Given the description of an element on the screen output the (x, y) to click on. 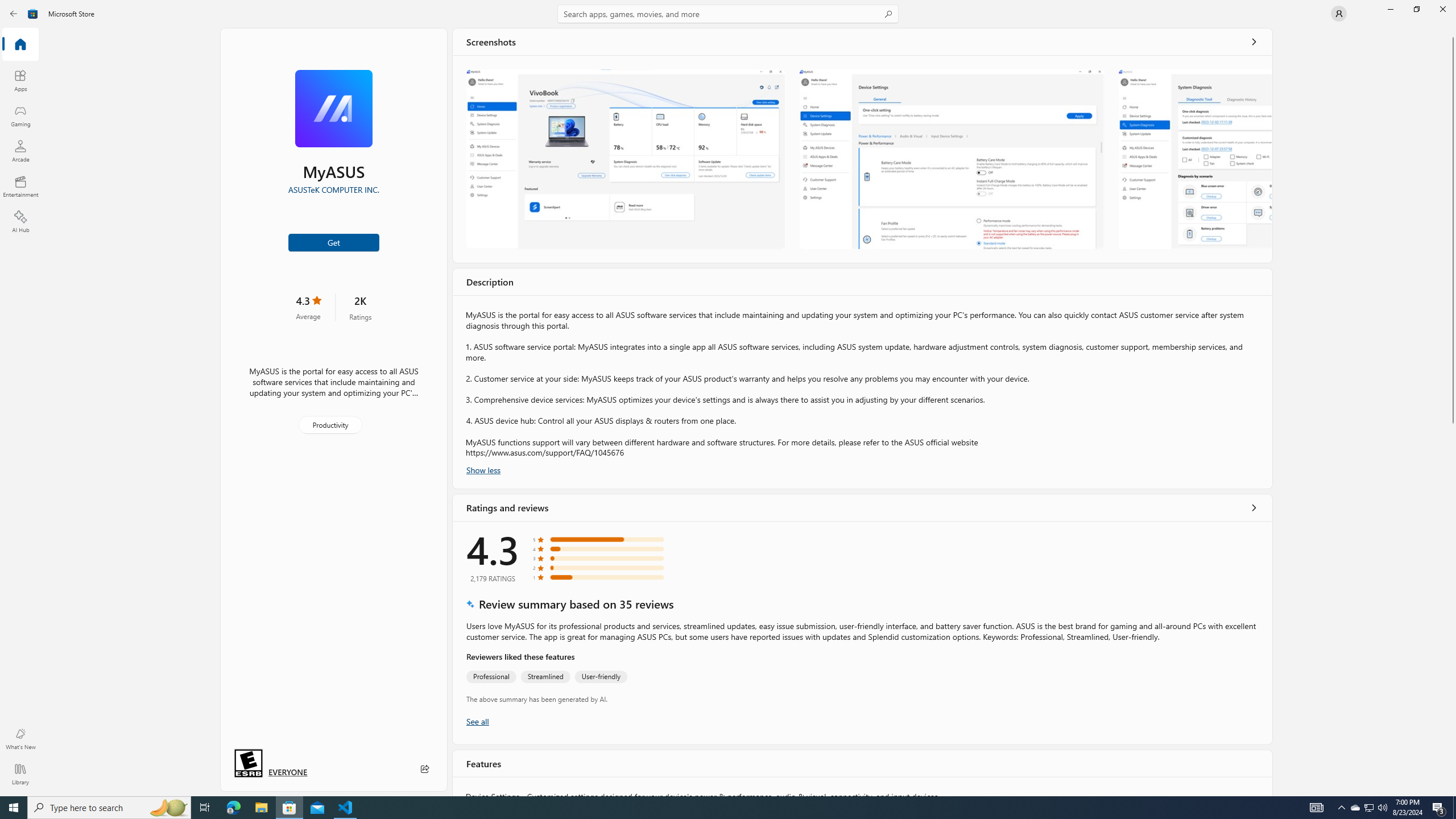
Vertical (1452, 412)
